Given the description of an element on the screen output the (x, y) to click on. 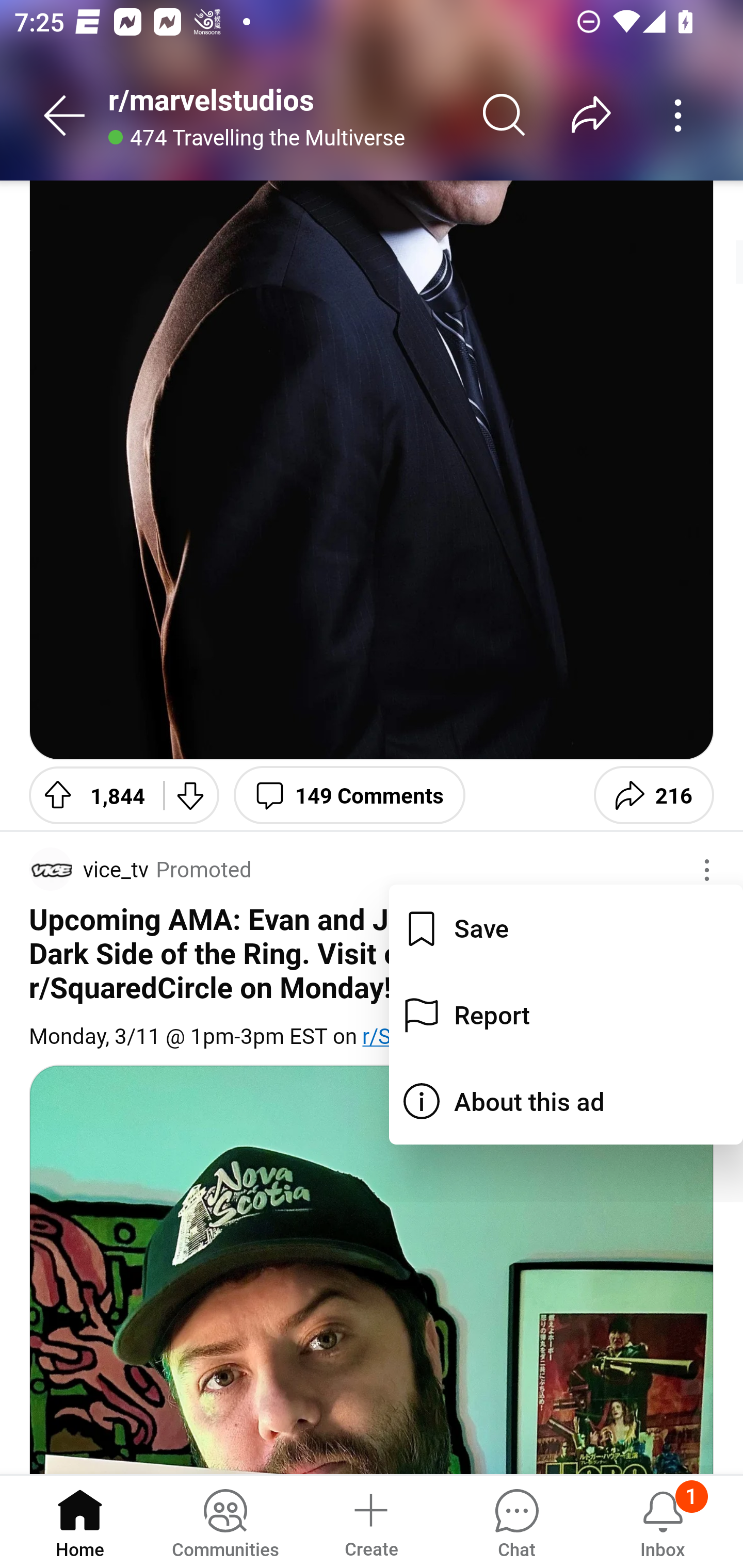
Save (566, 927)
Report (566, 1014)
About this ad (566, 1101)
